Given the description of an element on the screen output the (x, y) to click on. 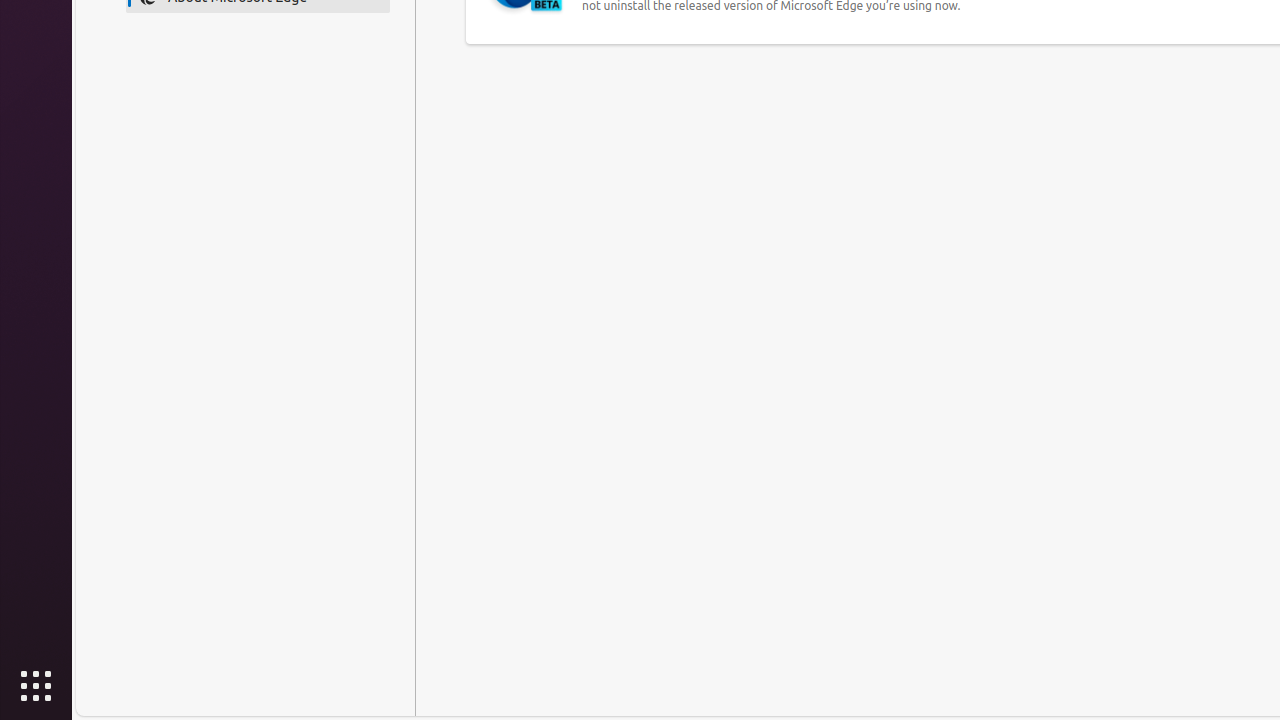
Show Applications Element type: toggle-button (36, 686)
